Given the description of an element on the screen output the (x, y) to click on. 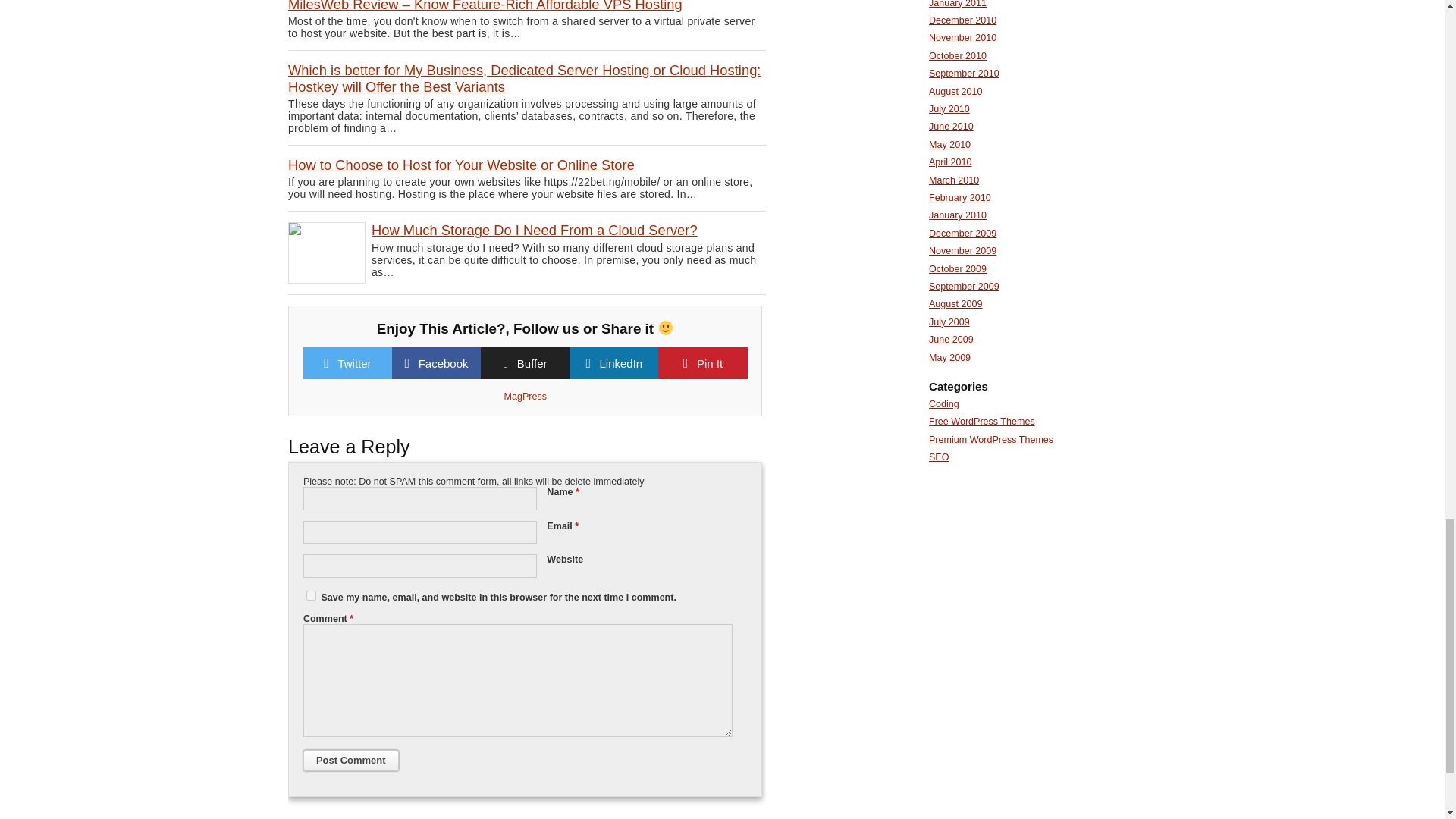
How Much Storage Do I Need From a Cloud Server? (534, 229)
Twitter (354, 363)
Facebook (443, 363)
LinkedIn (620, 363)
Post Comment (350, 760)
MagPress (524, 396)
How to Choose to Host for Your Website or Online Store (461, 164)
Pin It (709, 363)
yes (310, 595)
Post Comment (350, 760)
How to Choose to Host for Your Website or Online Store (461, 164)
Buffer (531, 363)
